Given the description of an element on the screen output the (x, y) to click on. 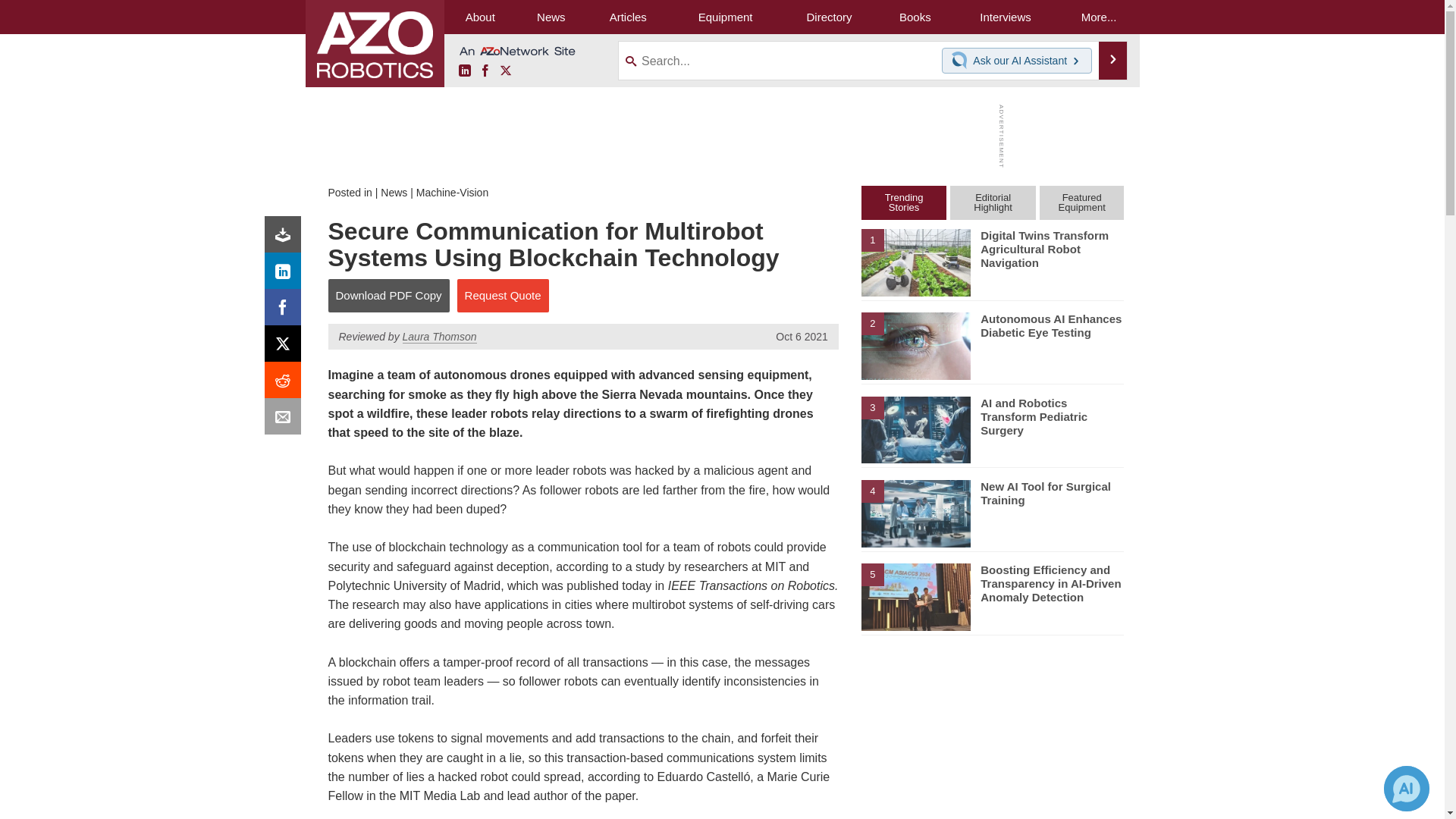
Email (285, 420)
Download PDF copy (285, 238)
Directory (828, 17)
X (285, 348)
X (505, 71)
LinkedIn (464, 71)
Facebook (285, 311)
About (480, 17)
Machine-Vision (451, 192)
